Given the description of an element on the screen output the (x, y) to click on. 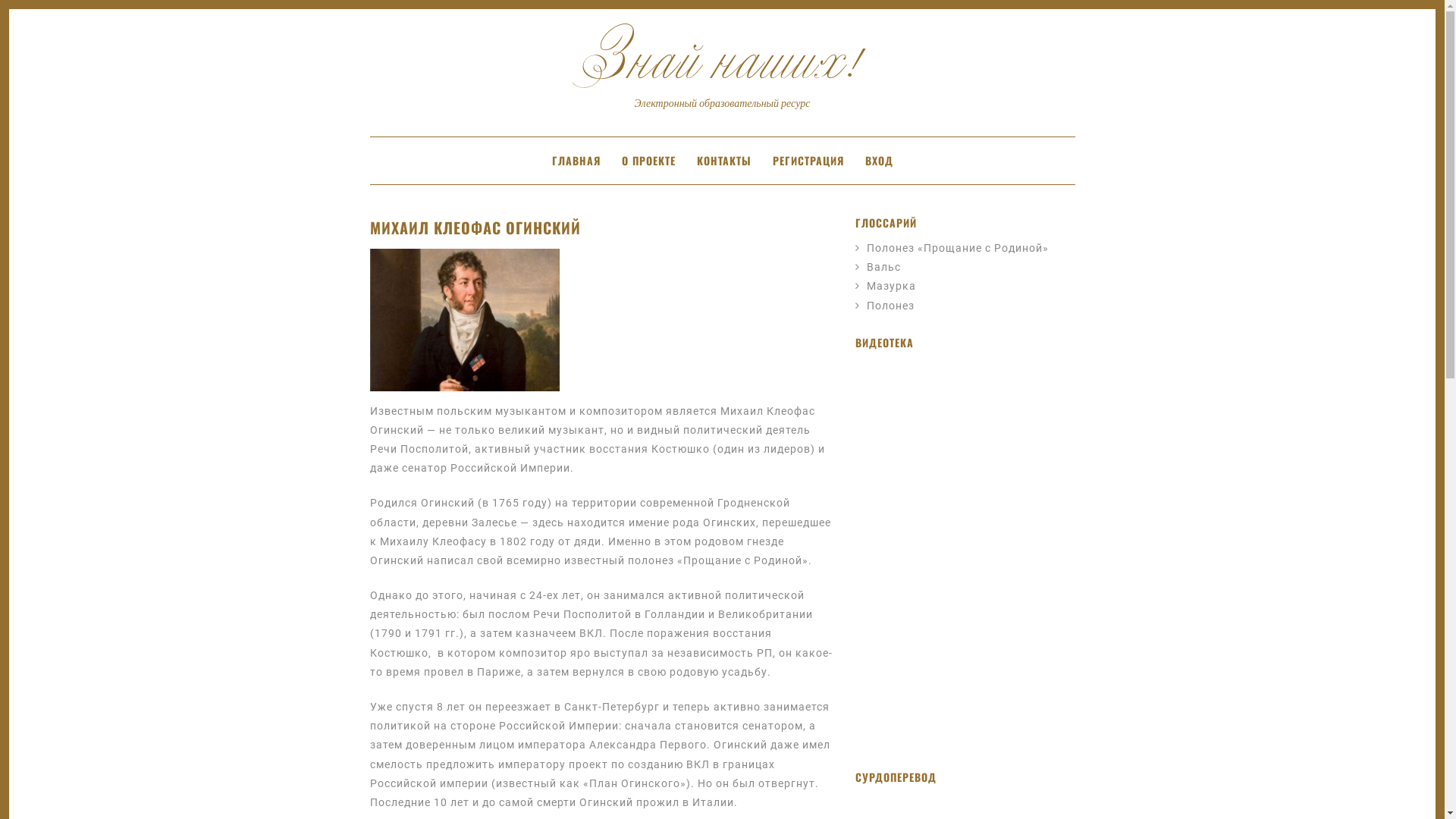
SKIP TO CONTENT Element type: text (413, 157)
